Given the description of an element on the screen output the (x, y) to click on. 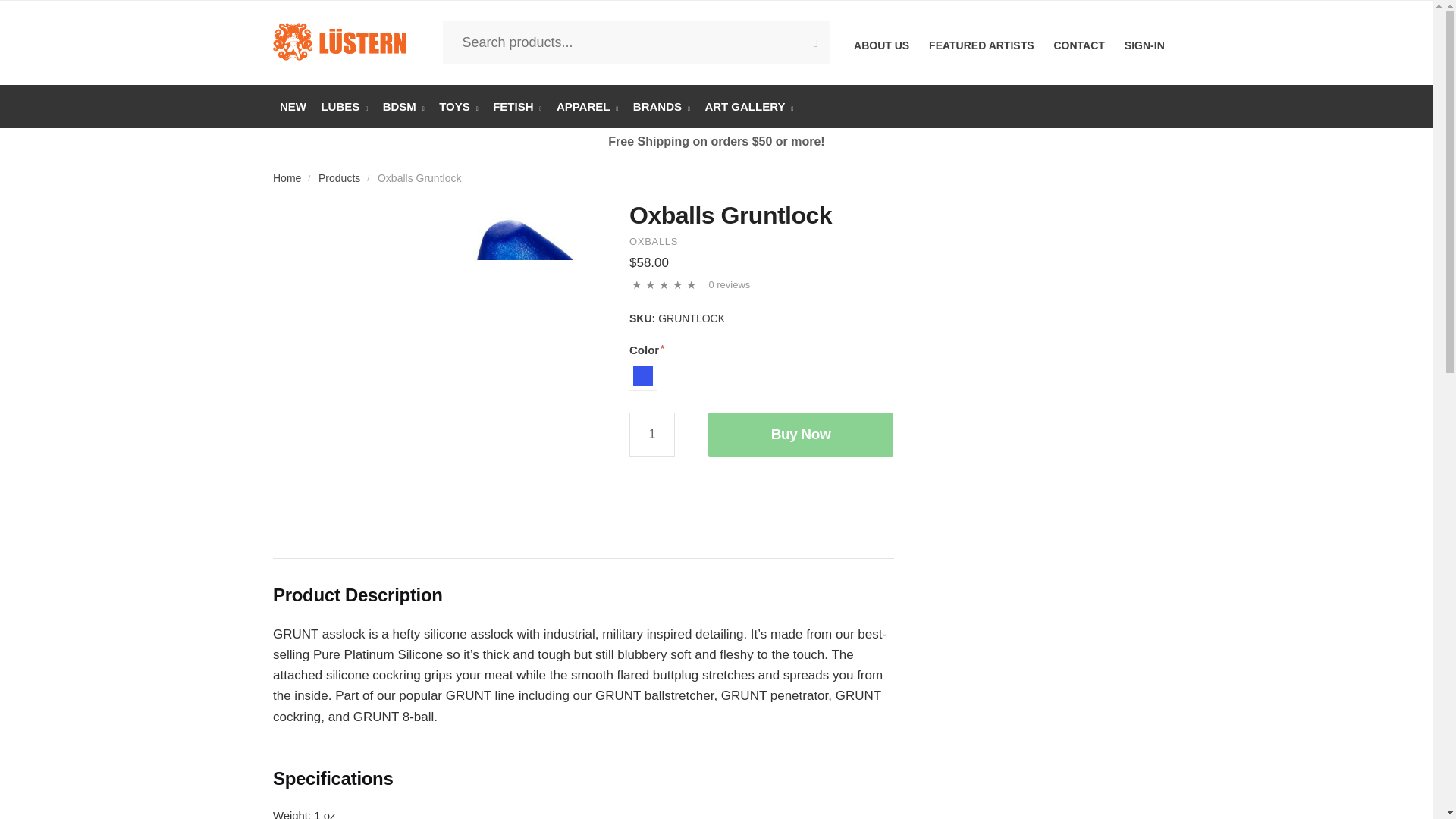
FEATURED ARTISTS (981, 42)
1 (651, 434)
ABOUT US (881, 42)
SIGN-IN (1144, 42)
LUBES (344, 106)
NEW (293, 106)
CONTACT (1078, 42)
BDSM (402, 106)
TOYS (458, 106)
